Given the description of an element on the screen output the (x, y) to click on. 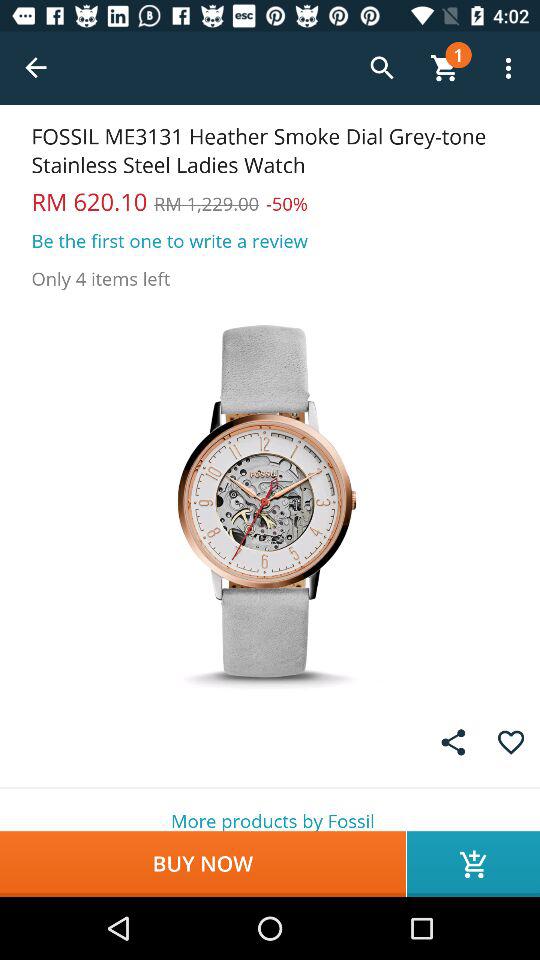
go back to the browsing screen (36, 68)
